Given the description of an element on the screen output the (x, y) to click on. 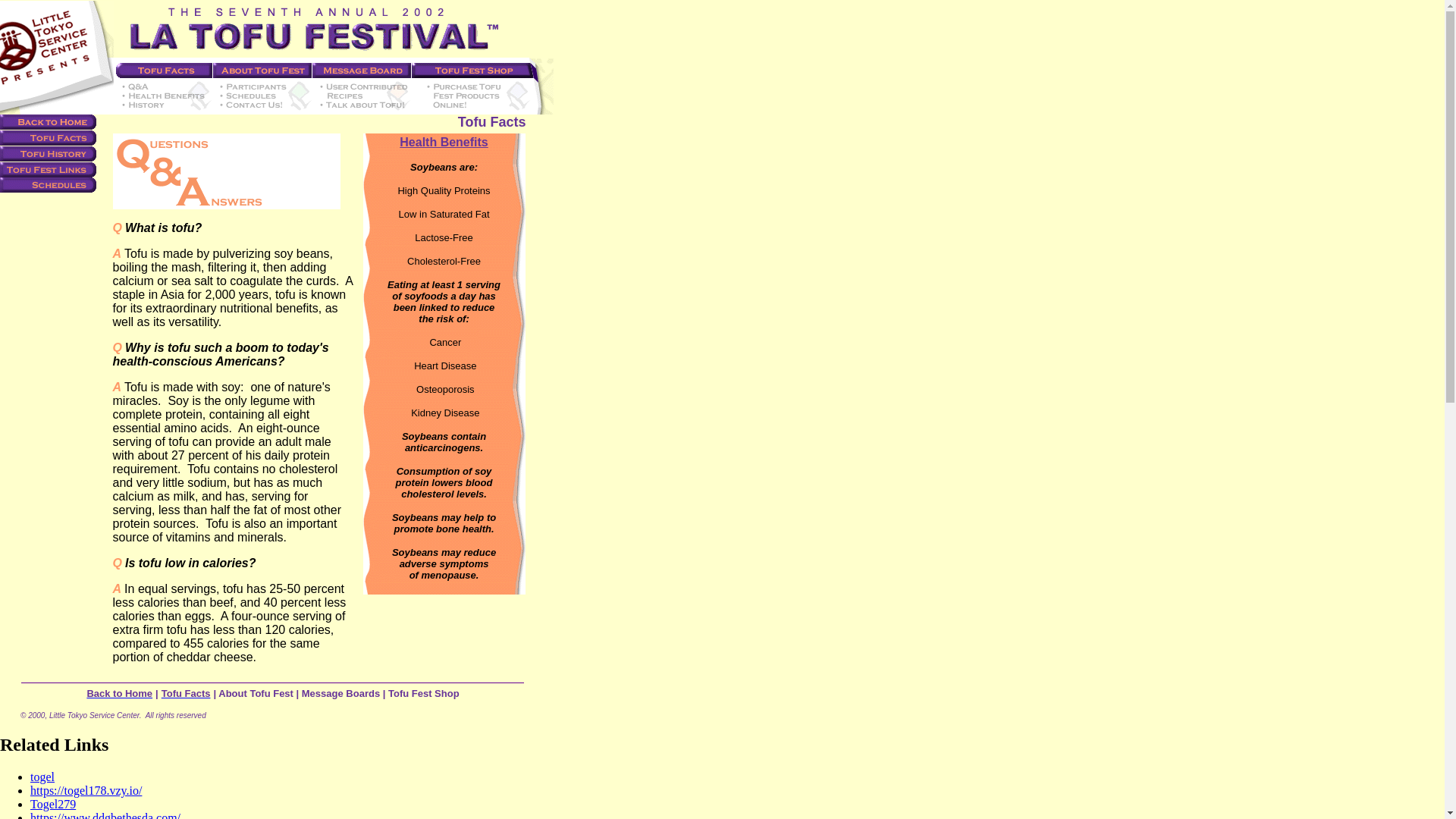
Togel279 (52, 803)
Back to Home (118, 692)
Tofu Facts (186, 692)
togel (42, 776)
